Given the description of an element on the screen output the (x, y) to click on. 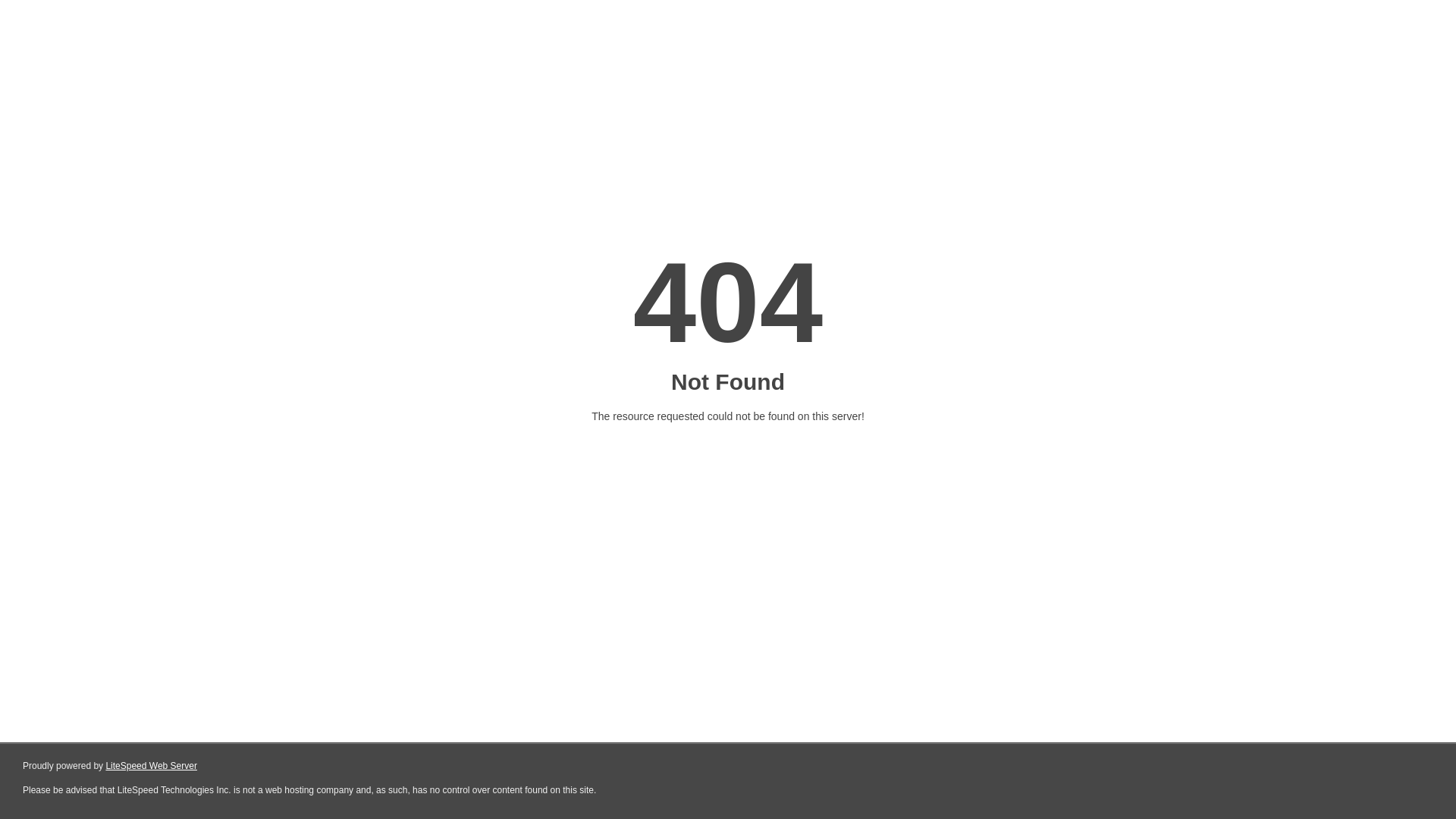
LiteSpeed Web Server Element type: text (151, 765)
